Given the description of an element on the screen output the (x, y) to click on. 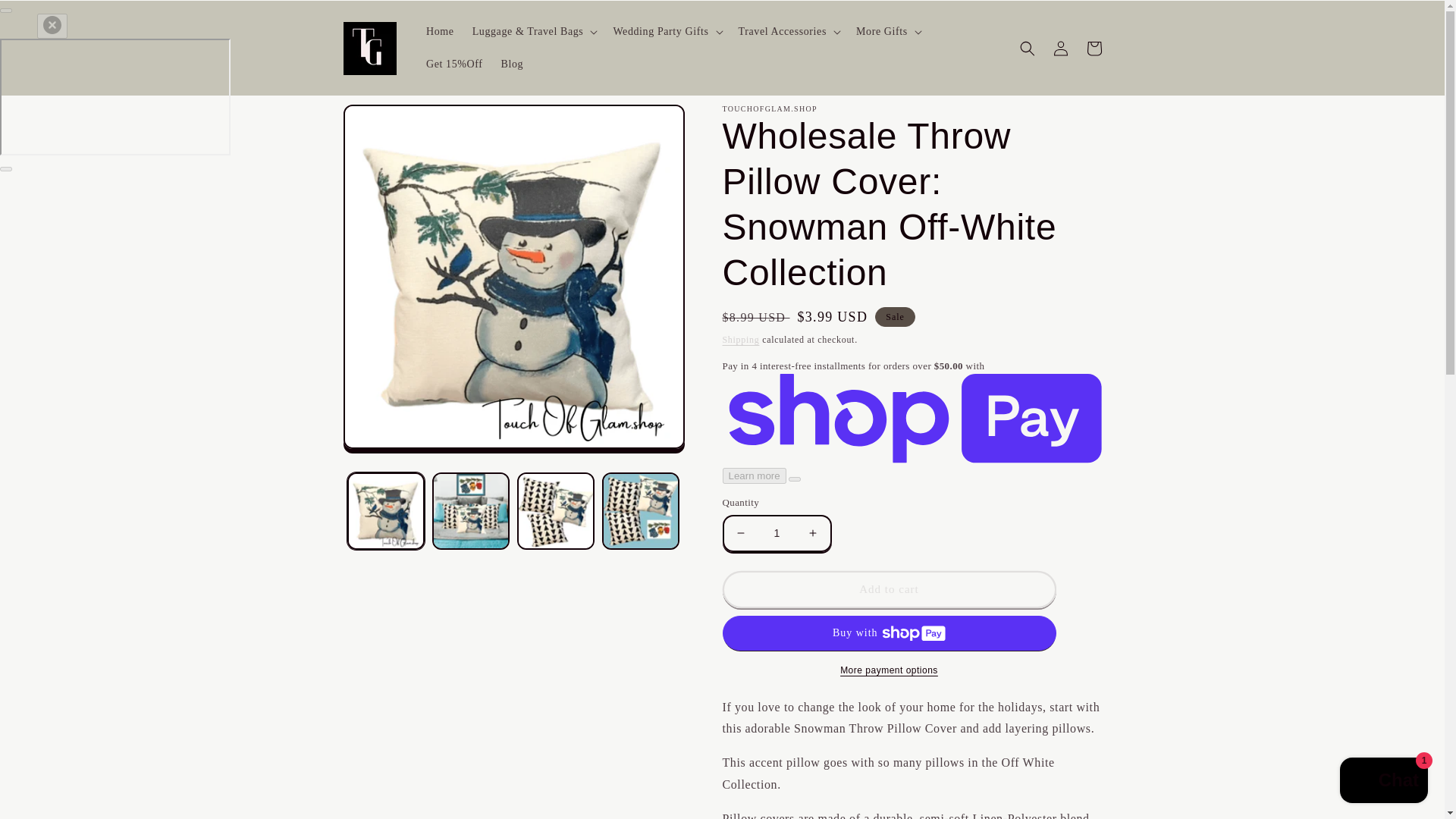
Shopify online store chat (1383, 781)
Home (439, 31)
1 (777, 533)
Skip to content (46, 18)
